Given the description of an element on the screen output the (x, y) to click on. 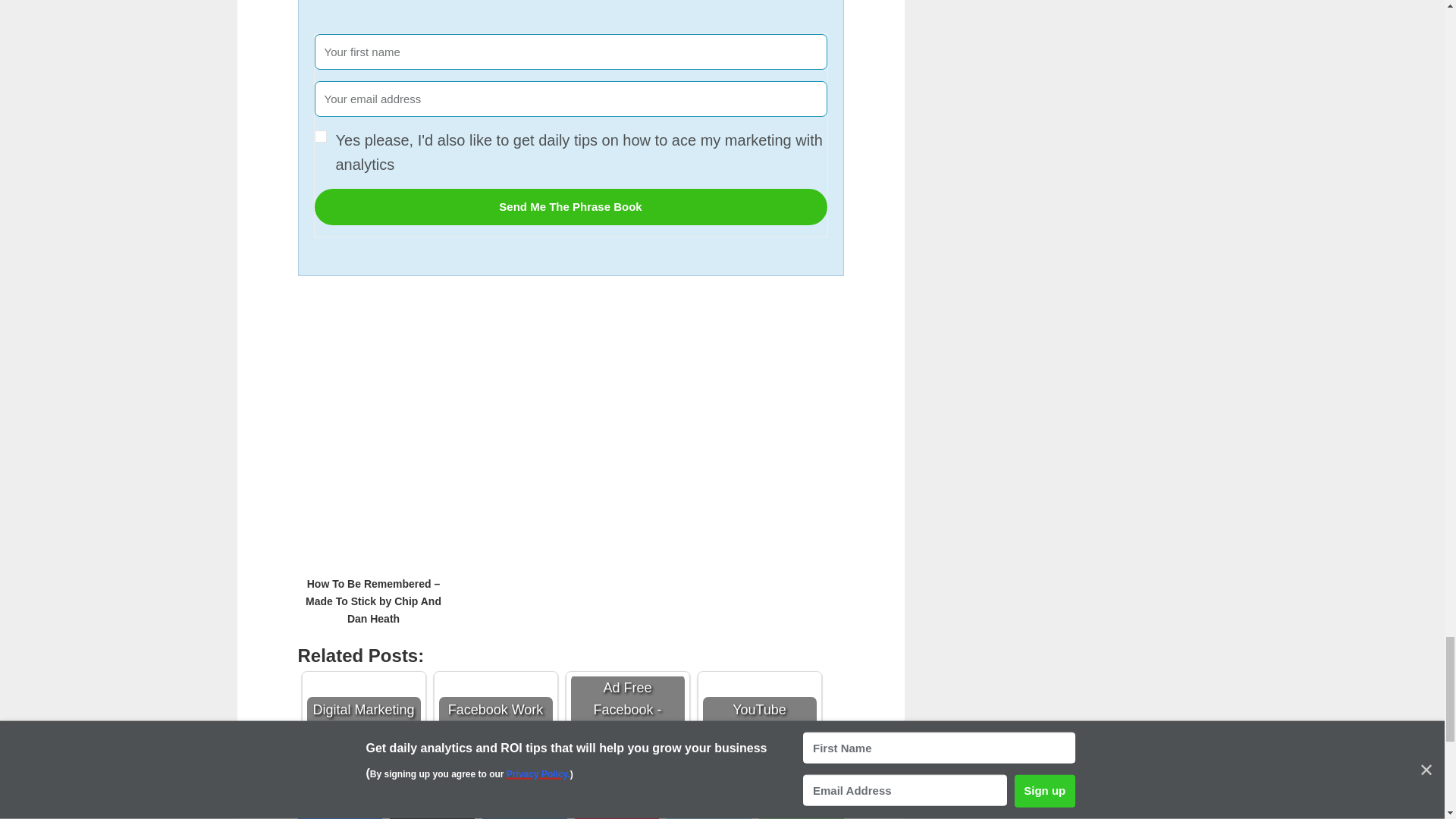
Digital Marketing Predictions 2023 - The Digital Coffee (362, 708)
Ad Free Facebook - Digital Marketing News 3rd November 2023 (627, 708)
Digital Marketing Predictions 2023 - The Digital Coffee (362, 733)
Ad Free Facebook - Digital Marketing News 3rd November 2023 (627, 733)
Send Me The Phrase Book (570, 207)
